Given the description of an element on the screen output the (x, y) to click on. 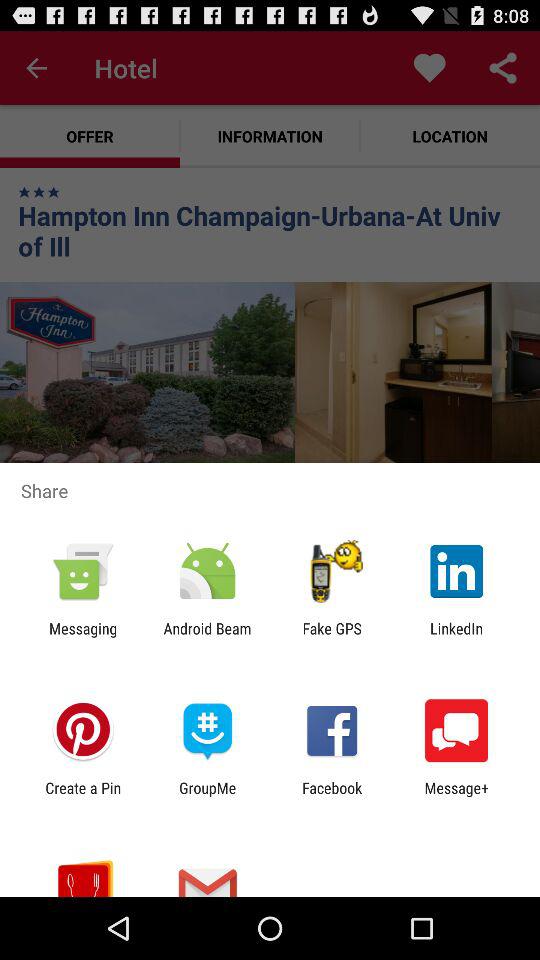
choose the icon next to fake gps item (456, 637)
